Given the description of an element on the screen output the (x, y) to click on. 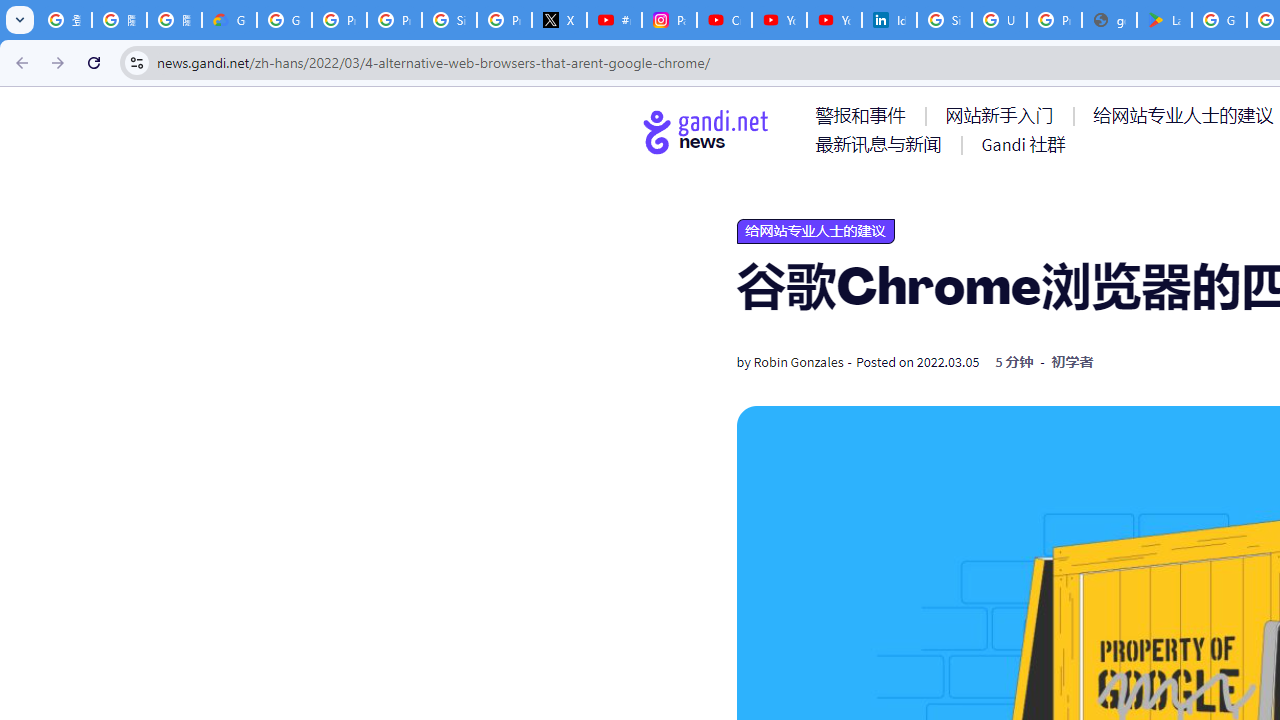
AutomationID: menu-item-77762 (1003, 115)
Go to home (706, 131)
AutomationID: menu-item-77761 (863, 115)
